Given the description of an element on the screen output the (x, y) to click on. 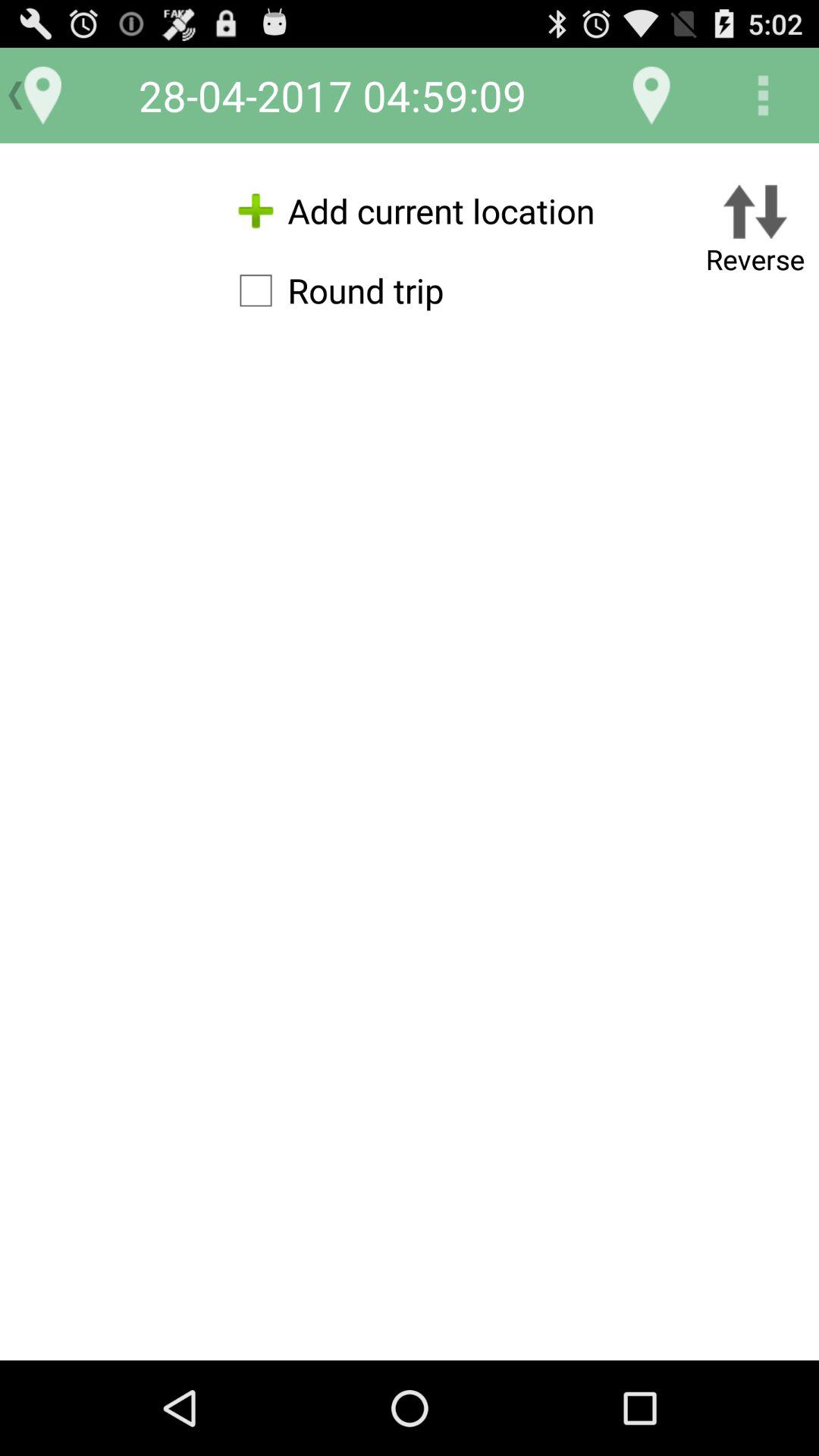
tap button next to reverse button (334, 290)
